Given the description of an element on the screen output the (x, y) to click on. 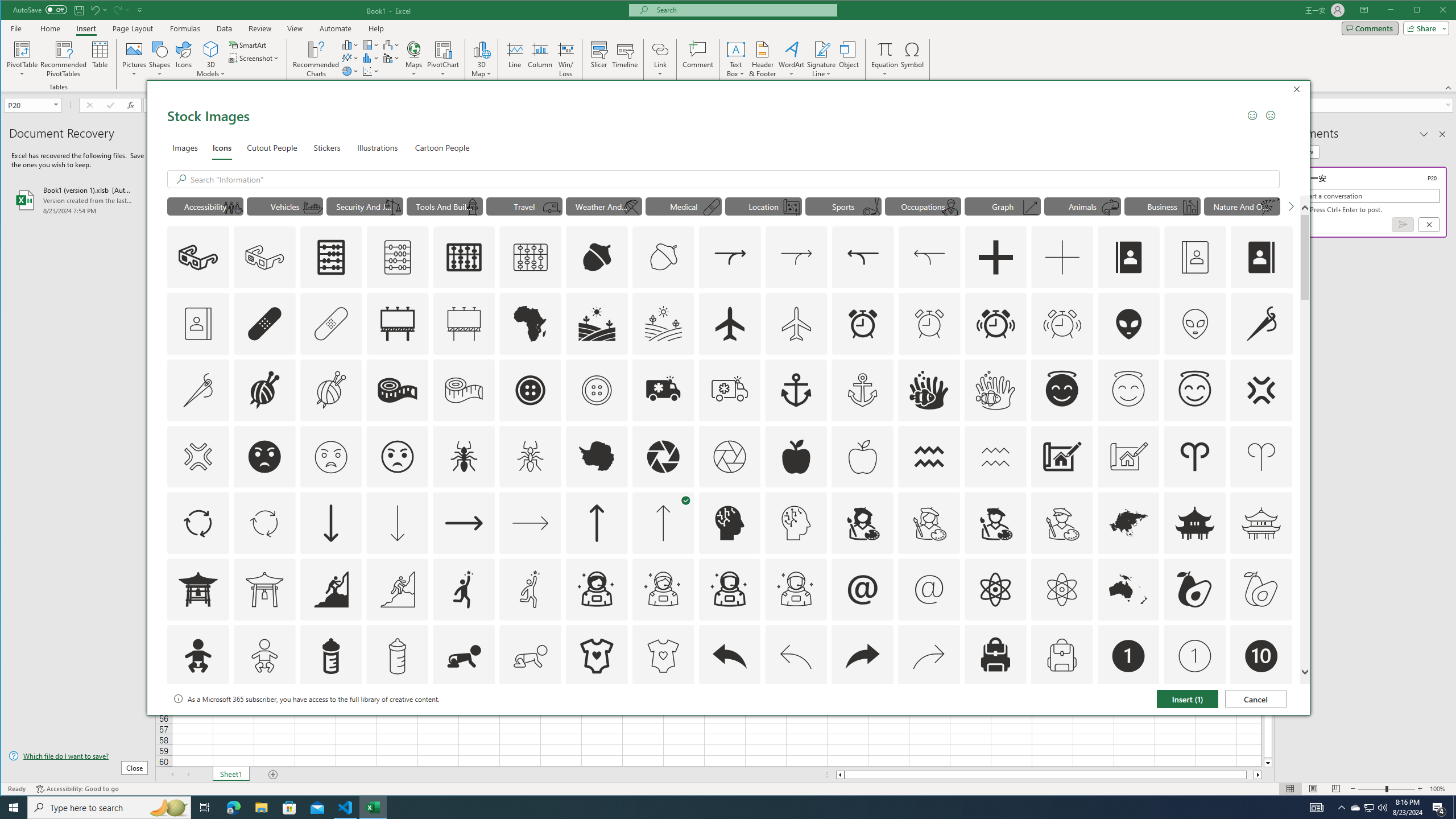
AutomationID: Icons_ArtificialIntelligence (729, 522)
AutomationID: Icons_Abacus1_M (530, 256)
AutomationID: Icons_Badge8 (1061, 721)
AutomationID: Icons_AlarmClock (863, 323)
AutomationID: Icons_Anchor_M (863, 389)
AutomationID: Icons_AngryFace_Outline (397, 456)
AutomationID: Icons_Architecture (1061, 456)
Column (540, 59)
AutomationID: Icons_AlterationsTailoring2_M (464, 389)
Task View (204, 807)
AutomationID: Icons_AlterationsTailoring3 (530, 389)
